Given the description of an element on the screen output the (x, y) to click on. 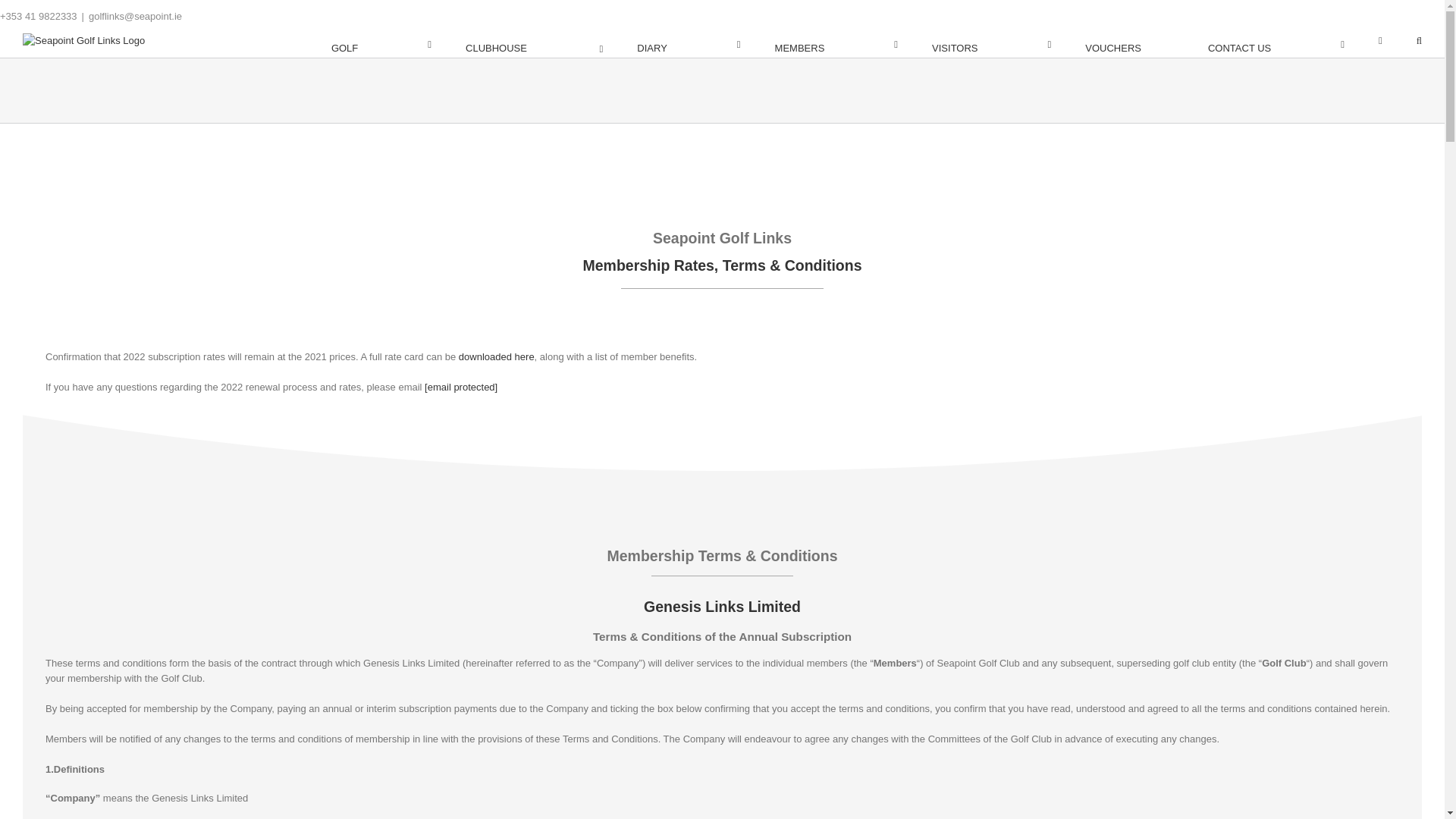
MEMBERS (836, 44)
VISITORS (991, 44)
CONTACT US (1275, 44)
GOLF (380, 44)
DIARY (688, 44)
VOUCHERS (1128, 44)
Seapoint Golf Links Logo (83, 40)
CLUBHOUSE (533, 44)
